Given the description of an element on the screen output the (x, y) to click on. 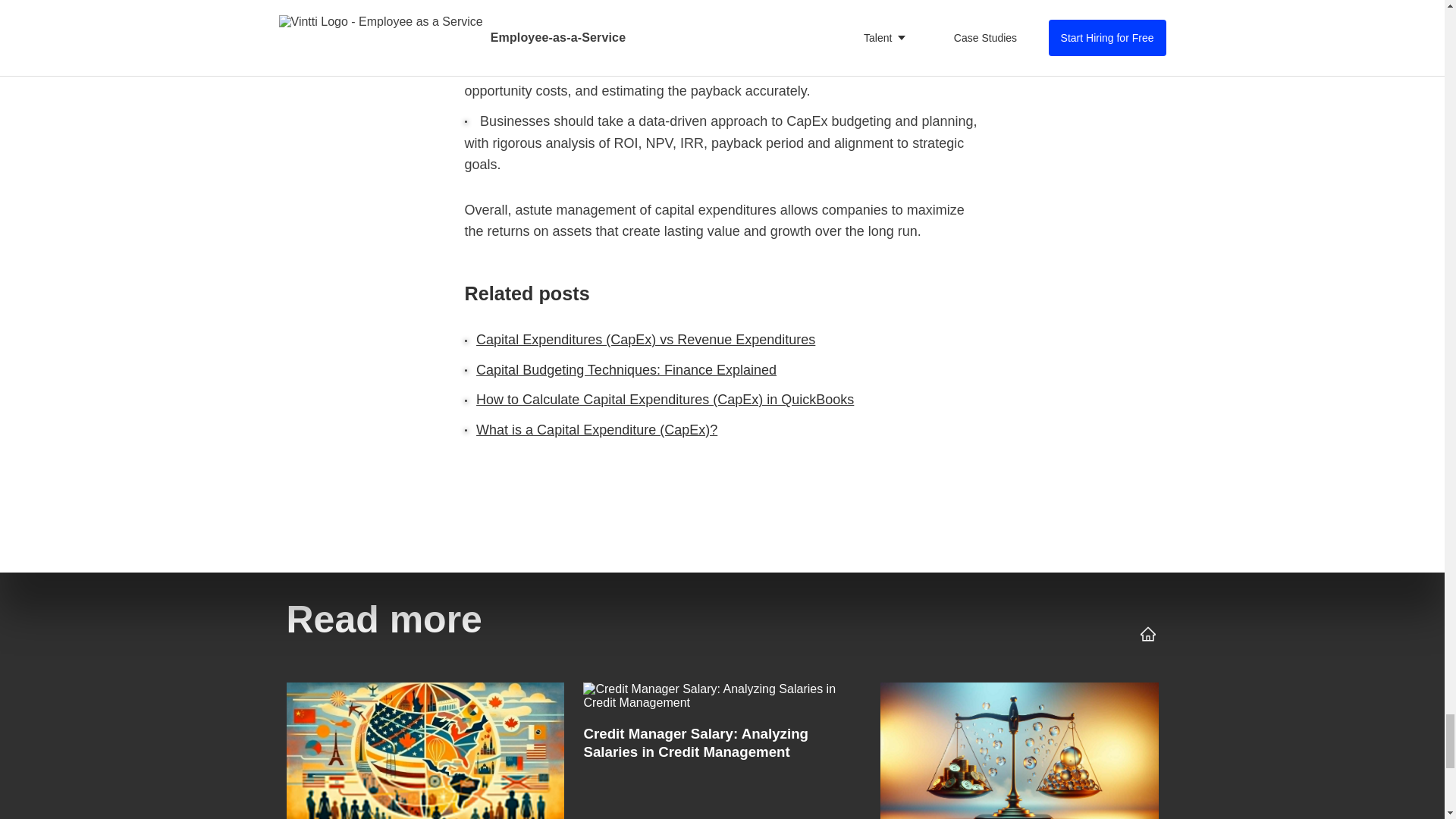
Capital Budgeting Techniques: Finance Explained (626, 369)
What is a Mark-to-Market Valuation? (1019, 746)
